Given the description of an element on the screen output the (x, y) to click on. 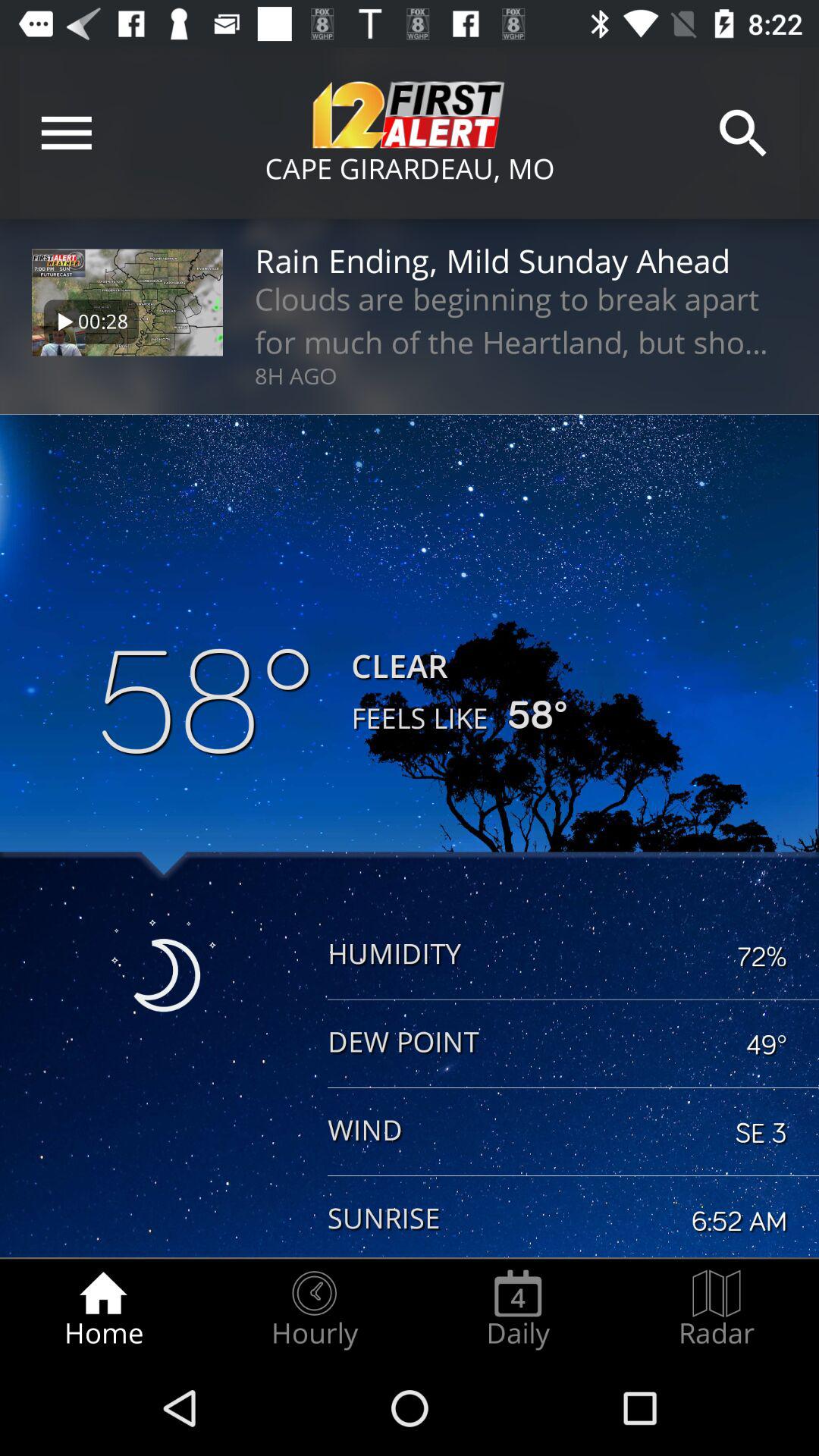
tap the radio button to the right of the daily item (716, 1309)
